Given the description of an element on the screen output the (x, y) to click on. 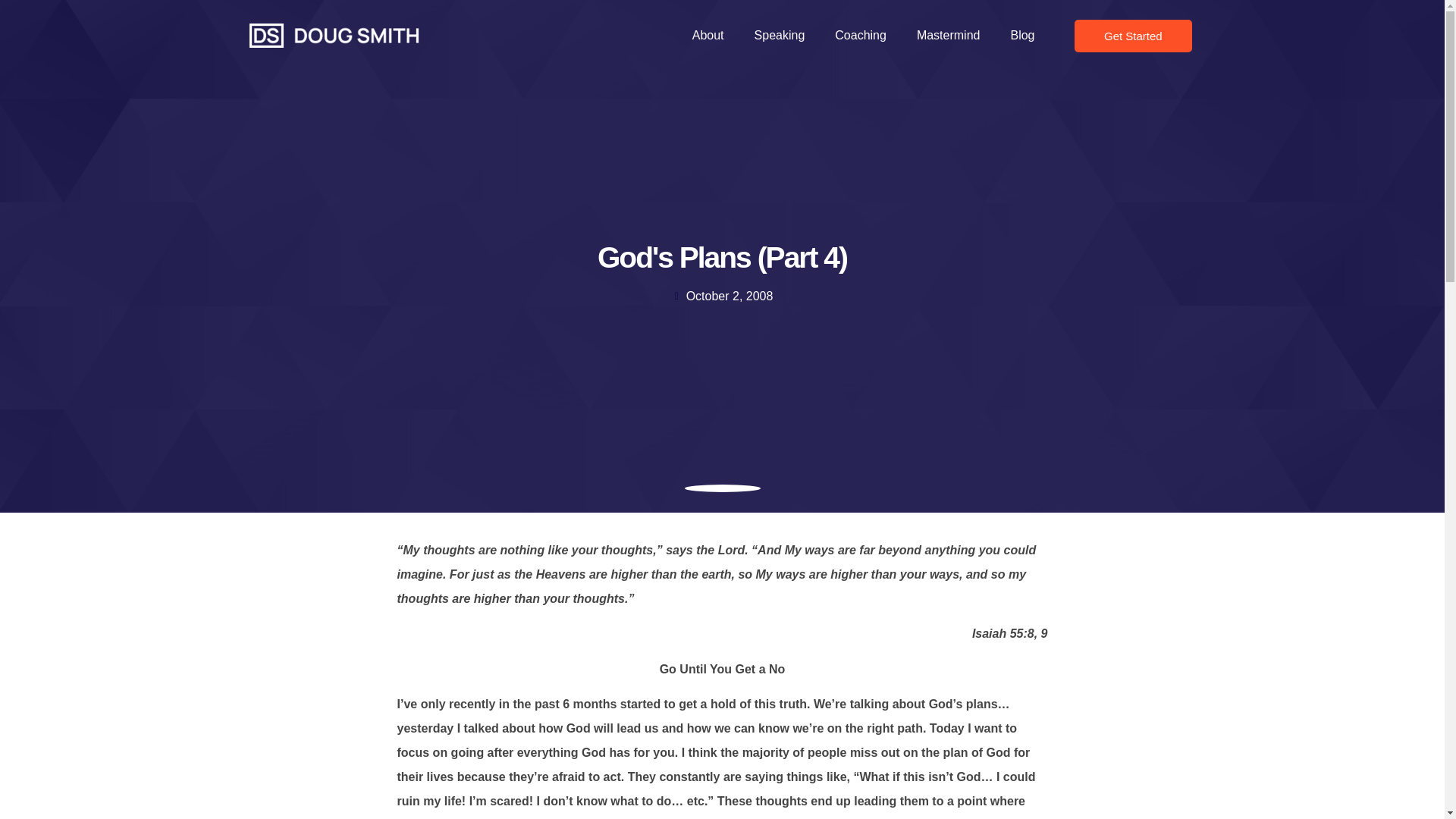
October 2, 2008 (722, 295)
About (708, 35)
Coaching (860, 35)
Blog (1021, 35)
Doug-Smith-Logo (333, 35)
Speaking (780, 35)
Get Started (1133, 35)
Mastermind (948, 35)
